Given the description of an element on the screen output the (x, y) to click on. 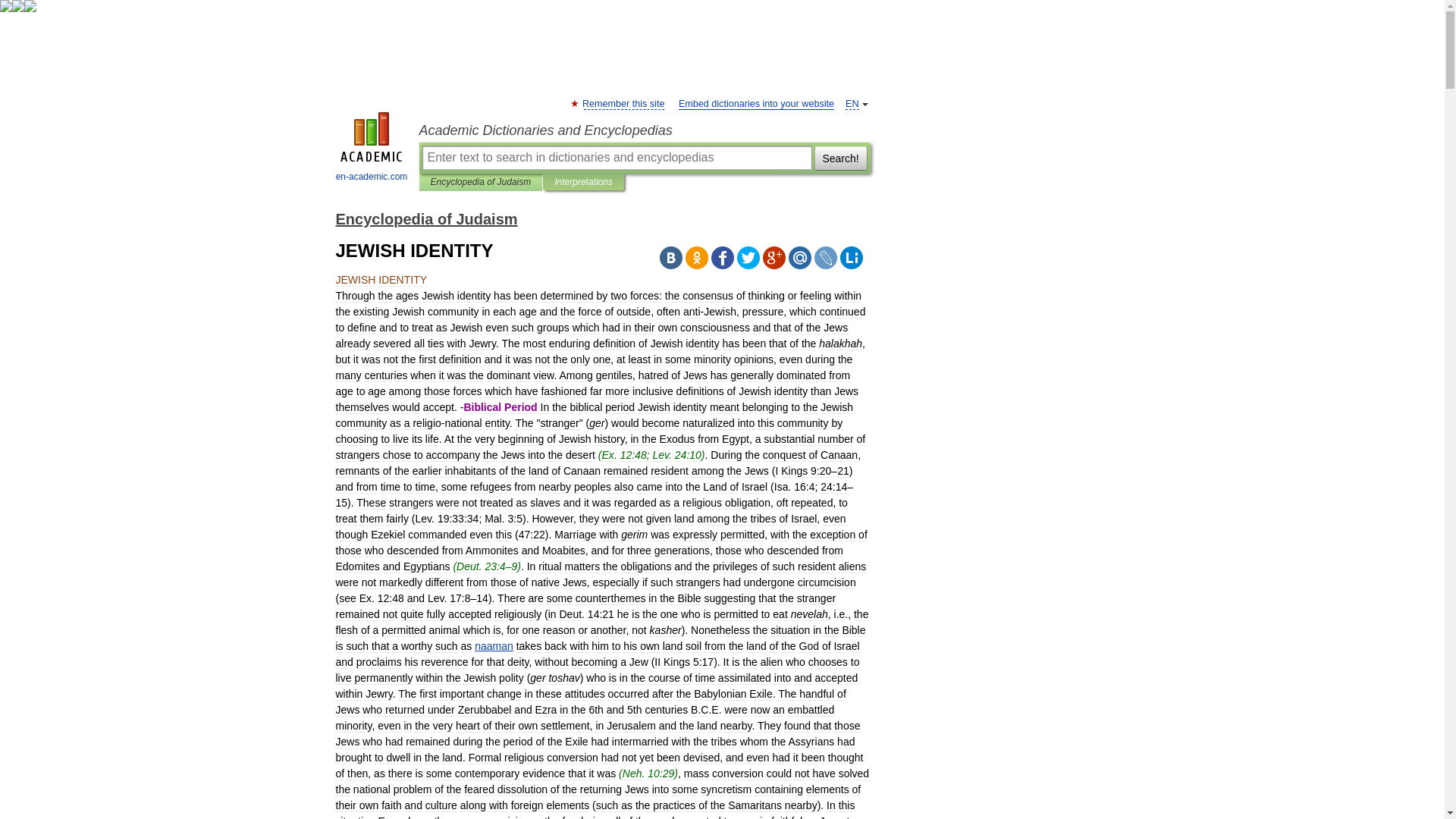
Embed dictionaries into your website (756, 103)
Encyclopedia of Judaism (480, 181)
Interpretations (583, 181)
naaman (493, 645)
en-academic.com (371, 148)
Academic Dictionaries and Encyclopedias (644, 130)
Encyclopedia of Judaism (425, 218)
Search! (840, 157)
Remember this site (623, 103)
EN (852, 103)
